Given the description of an element on the screen output the (x, y) to click on. 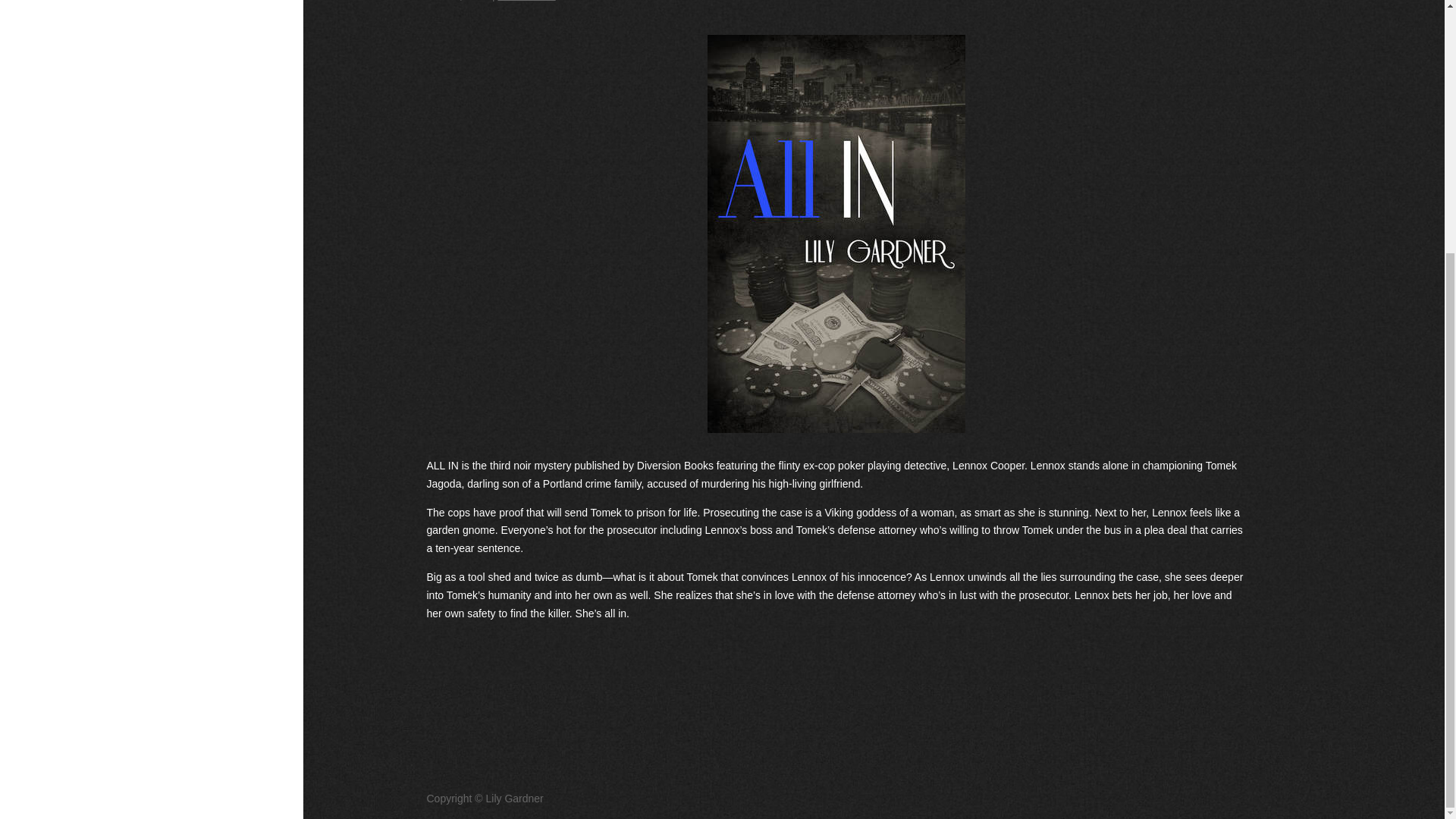
Bio (181, 200)
Sites (181, 2)
Film Ivoire (181, 116)
Shot on Location (181, 31)
Book Reviews (181, 157)
Films Noir (181, 73)
